Given the description of an element on the screen output the (x, y) to click on. 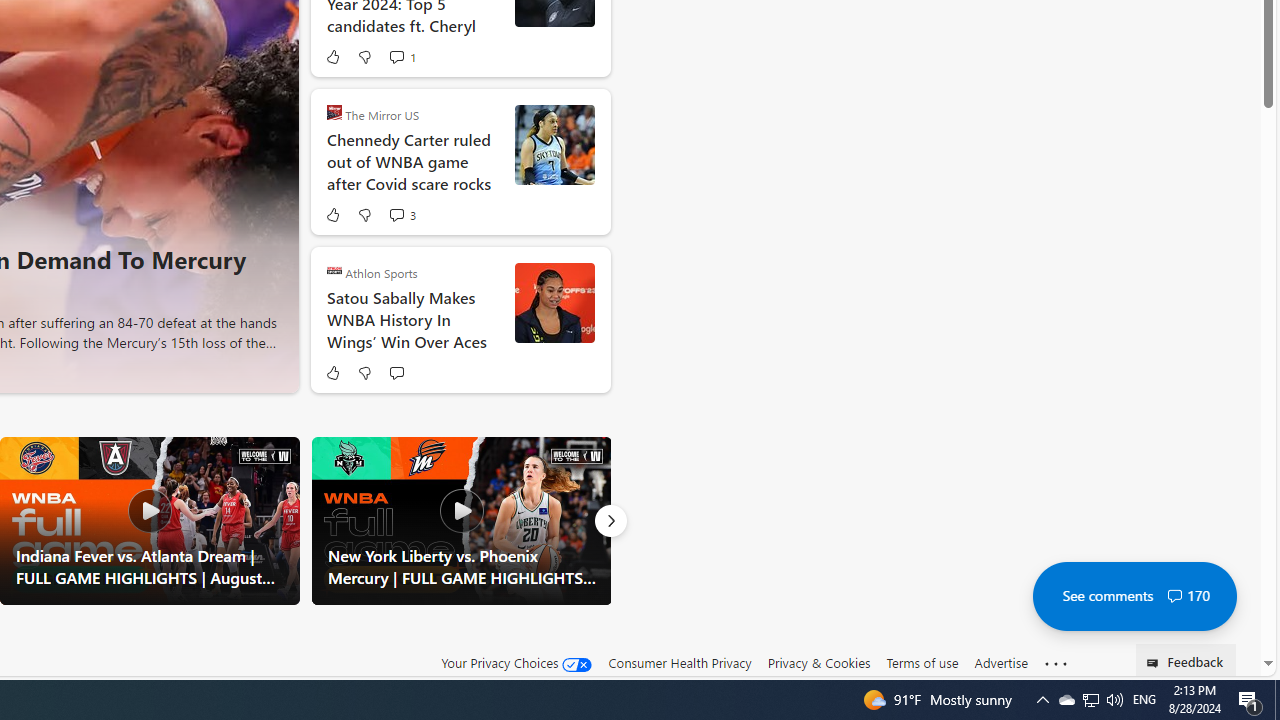
Privacy & Cookies (818, 662)
Start the conversation (395, 372)
View comments 3 Comment (401, 214)
View comments 1 Comment (401, 56)
Next (610, 520)
Your Privacy Choices (516, 663)
Start the conversation (396, 372)
View comments 3 Comment (395, 215)
Like (332, 372)
Advertise (1000, 662)
Feedback (1186, 659)
Class: feedback_link_icon-DS-EntryPoint1-1 (1156, 663)
Your Privacy Choices (516, 662)
